Given the description of an element on the screen output the (x, y) to click on. 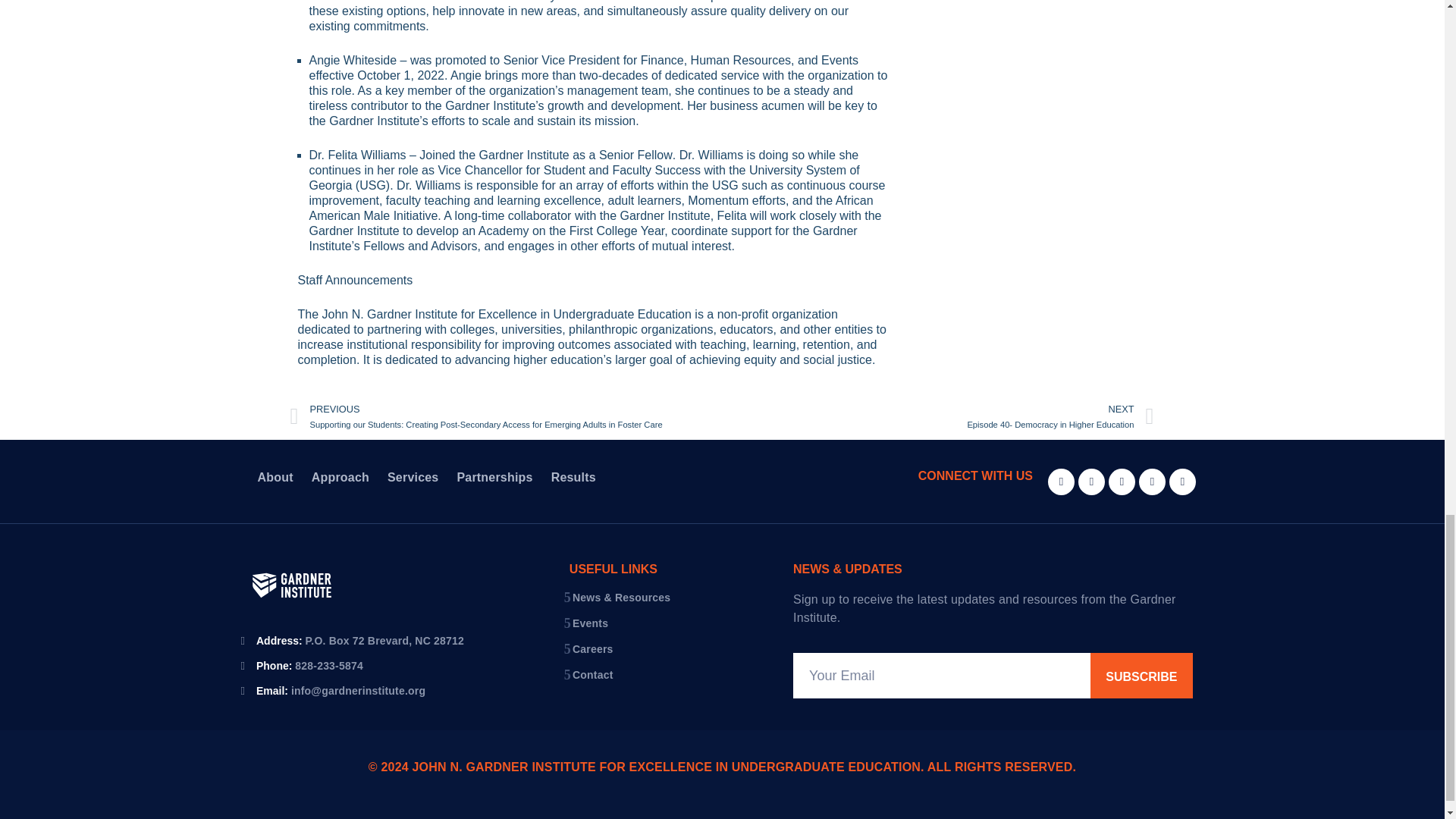
Subscribe (1141, 675)
Staff Announcements (354, 279)
